Given the description of an element on the screen output the (x, y) to click on. 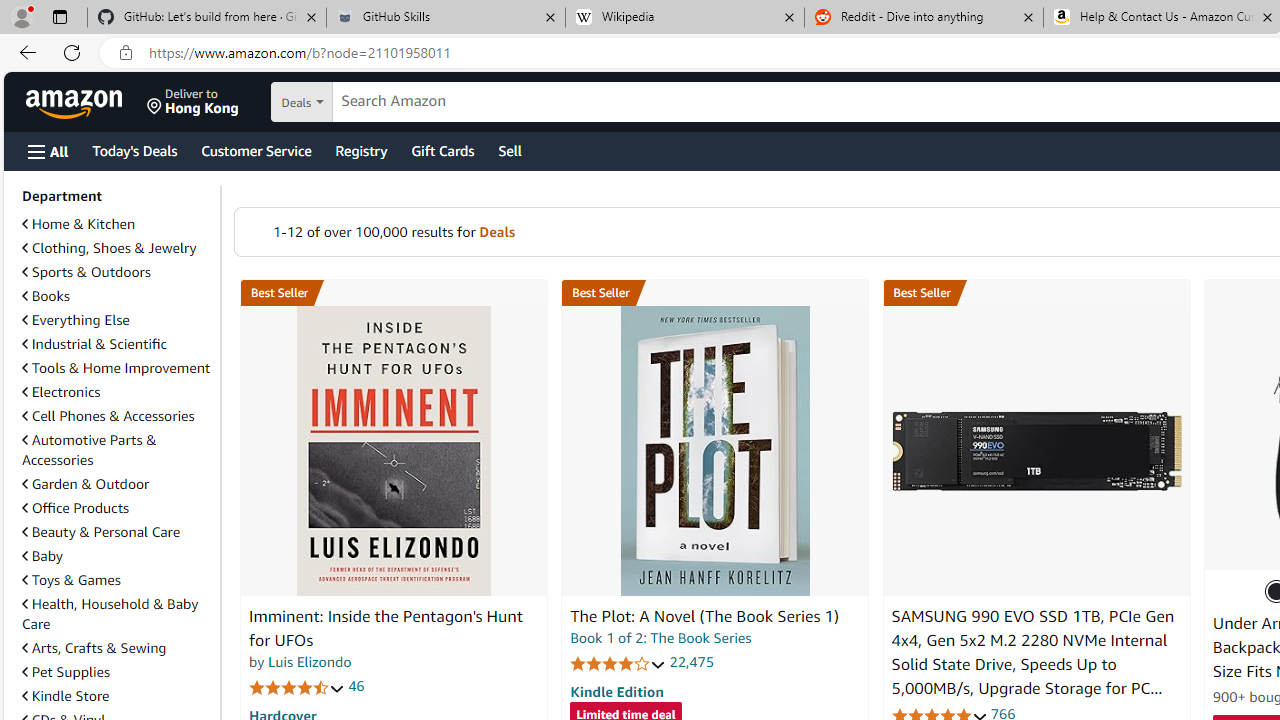
Baby (41, 556)
Health, Household & Baby Care (109, 613)
Luis Elizondo (309, 662)
Office Products (117, 507)
Books (117, 295)
Industrial & Scientific (94, 343)
Clothing, Shoes & Jewelry (117, 247)
Clothing, Shoes & Jewelry (109, 248)
Garden & Outdoor (85, 484)
Baby (117, 555)
The Plot: A Novel (The Book Series 1) (703, 616)
Home & Kitchen (78, 224)
Everything Else (75, 320)
